Given the description of an element on the screen output the (x, y) to click on. 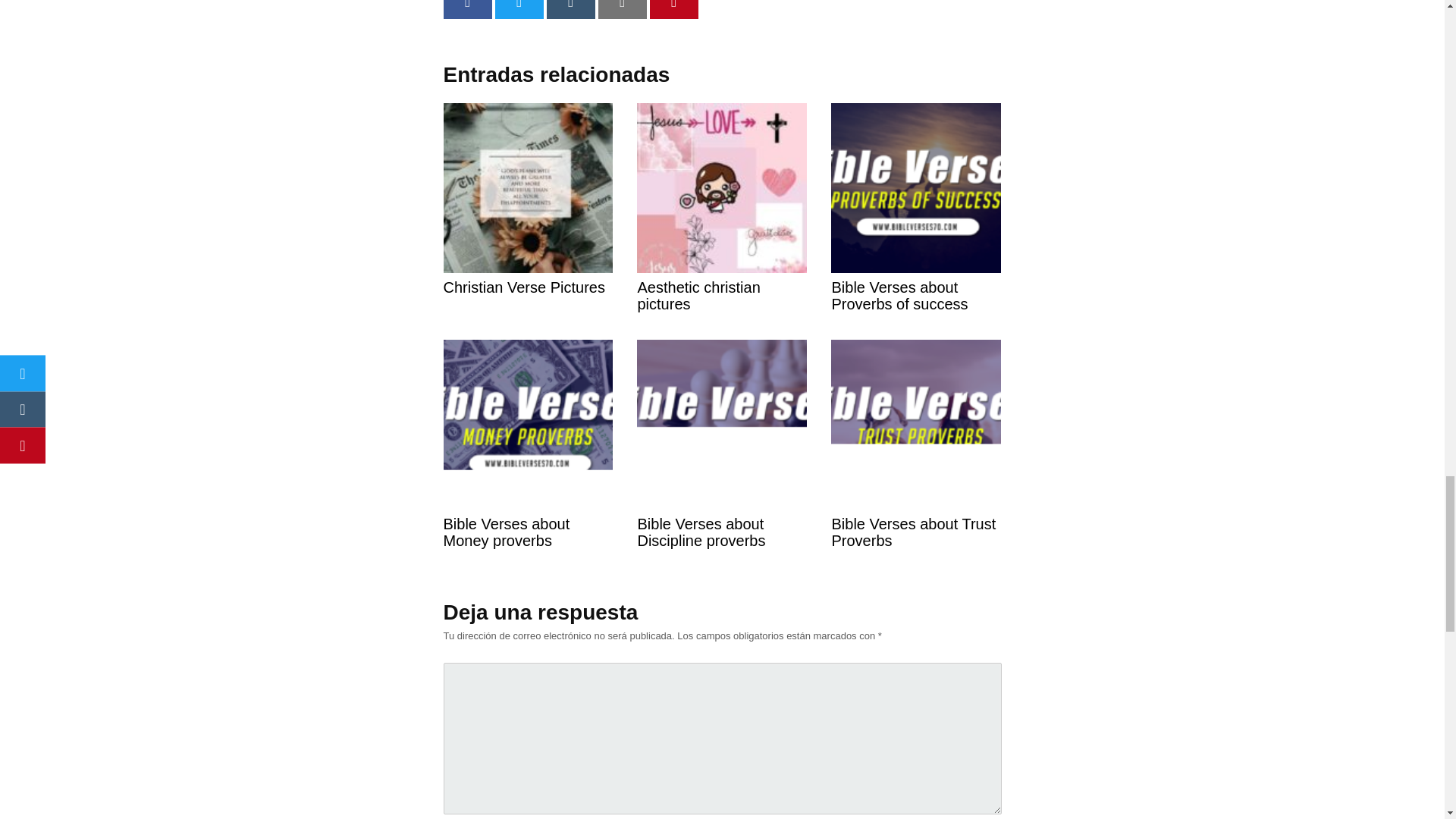
Bible Verses about Money proverbs (527, 482)
Christian Verse Pictures (527, 237)
Bible Verses about Proverbs of success (916, 246)
Bible Verses about Discipline proverbs (721, 482)
Bible Verses about Trust Proverbs (916, 482)
Aesthetic christian pictures (721, 246)
